Given the description of an element on the screen output the (x, y) to click on. 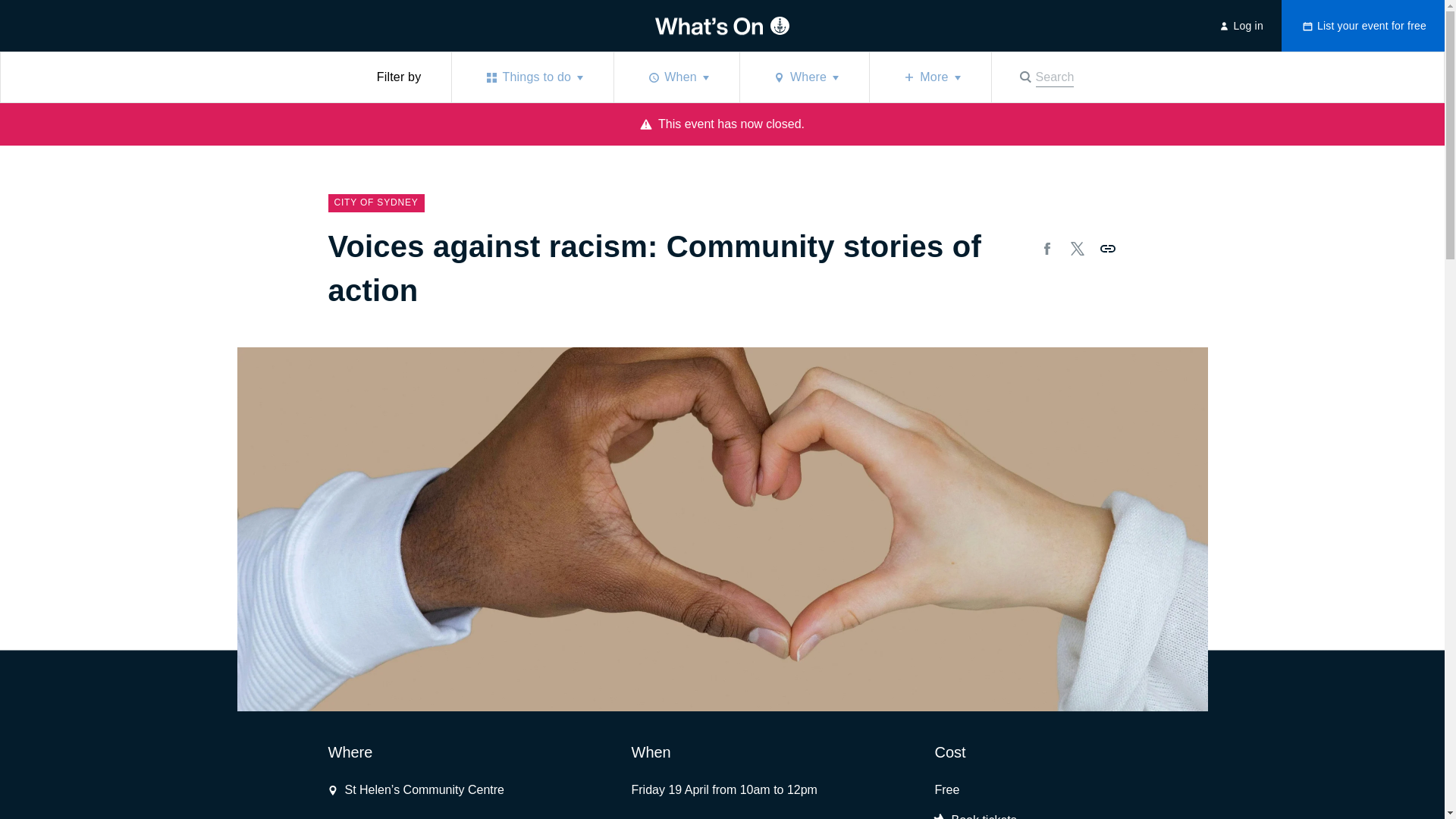
When (676, 77)
Share on Facebook (1045, 248)
Book tickets (975, 815)
Where (804, 77)
Where (804, 77)
Share on Twitter (975, 815)
Copy this link (1076, 248)
More (1106, 248)
Things to do (929, 77)
